Given the description of an element on the screen output the (x, y) to click on. 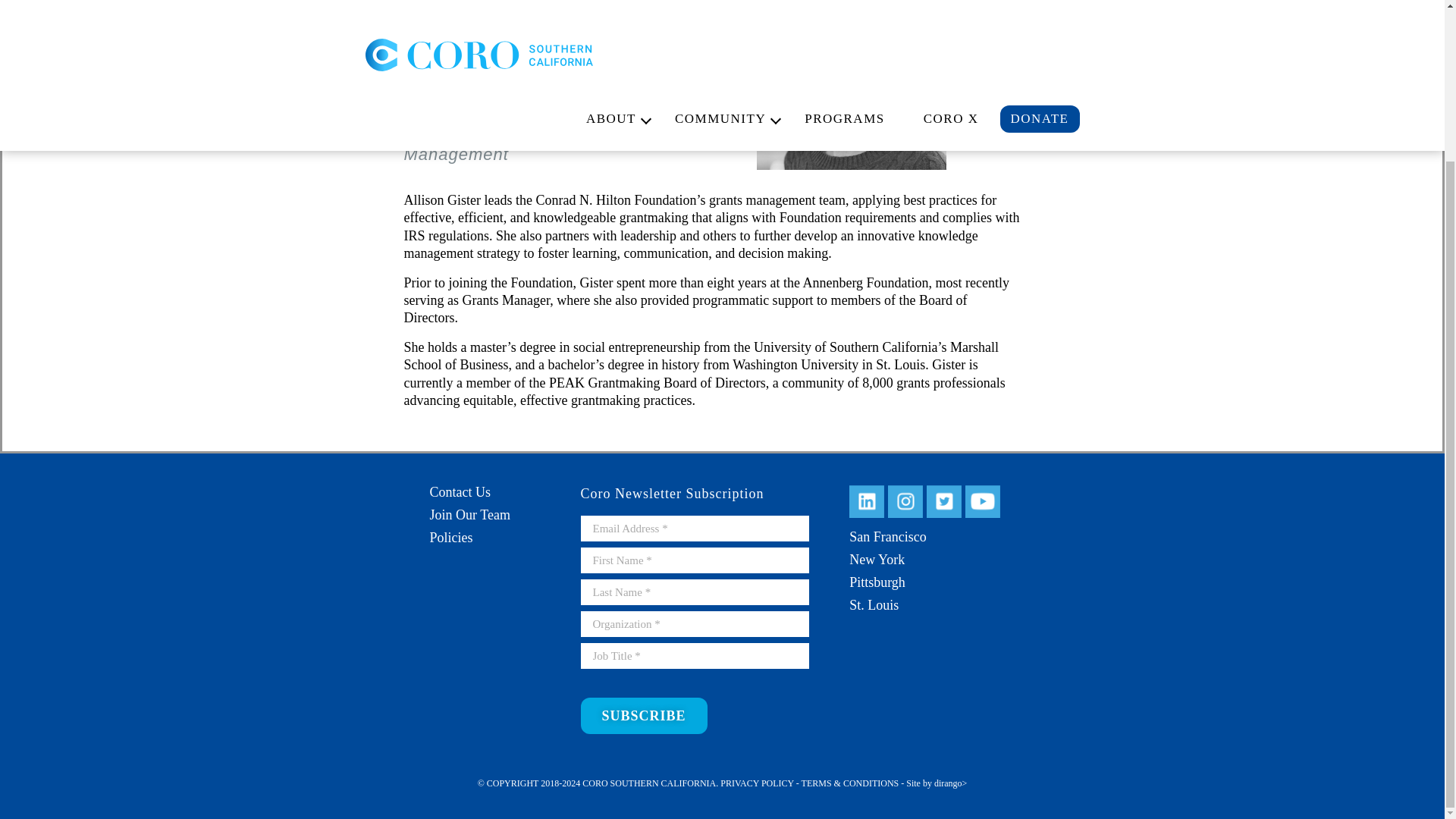
New York (876, 559)
PRIVACY POLICY (756, 783)
Join Our Team (469, 514)
Pittsburgh (876, 581)
St. Louis (873, 604)
Policies (450, 537)
Contact Us (459, 491)
San Francisco (887, 536)
Subscribe (643, 715)
Subscribe (643, 715)
